Given the description of an element on the screen output the (x, y) to click on. 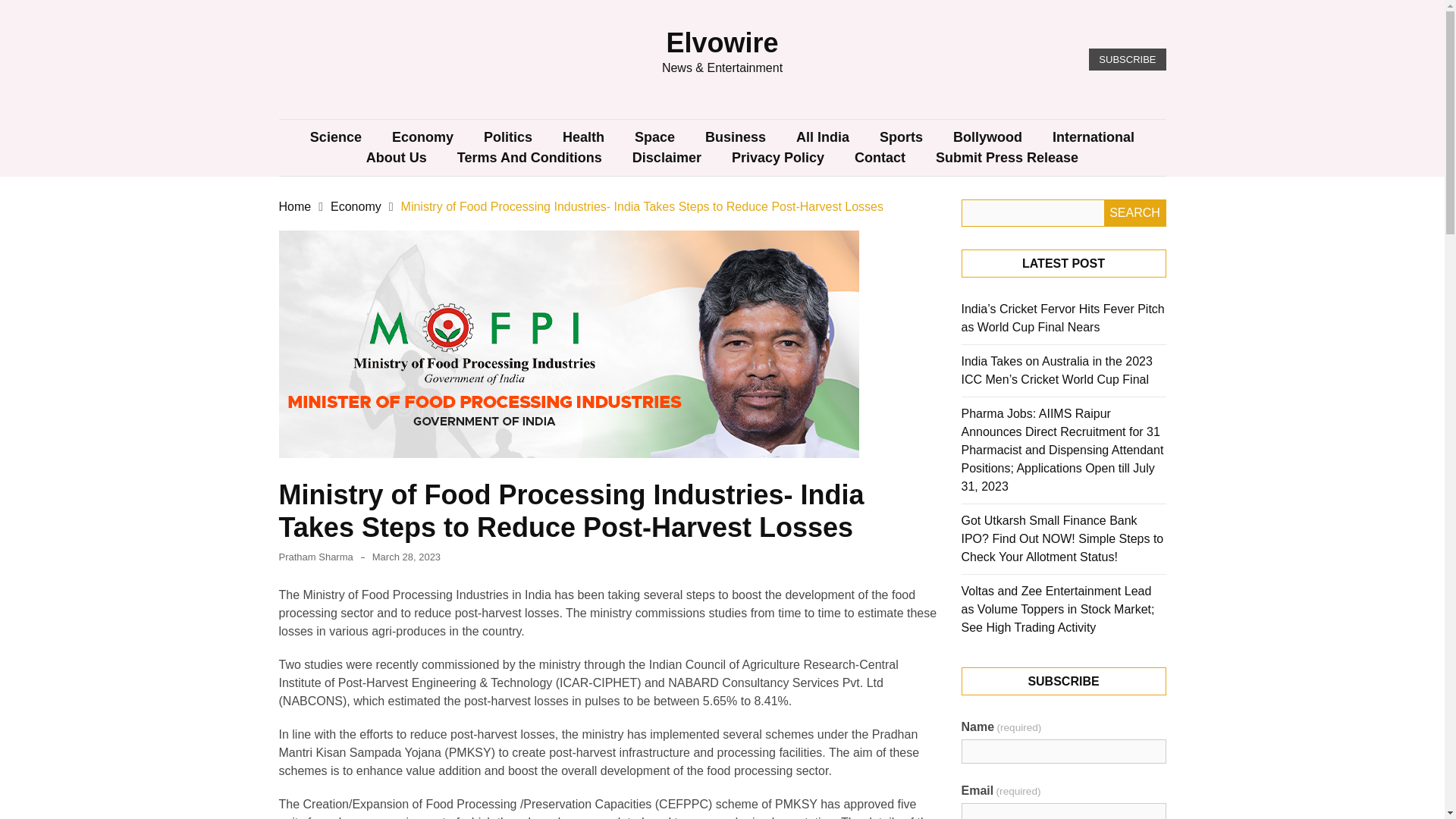
International (1093, 137)
Bollywood (986, 137)
Business (735, 137)
Contact (880, 158)
Terms And Conditions (529, 158)
Economy (422, 137)
Economy (355, 205)
Disclaimer (666, 158)
Elvowire (721, 42)
Health (583, 137)
